Given the description of an element on the screen output the (x, y) to click on. 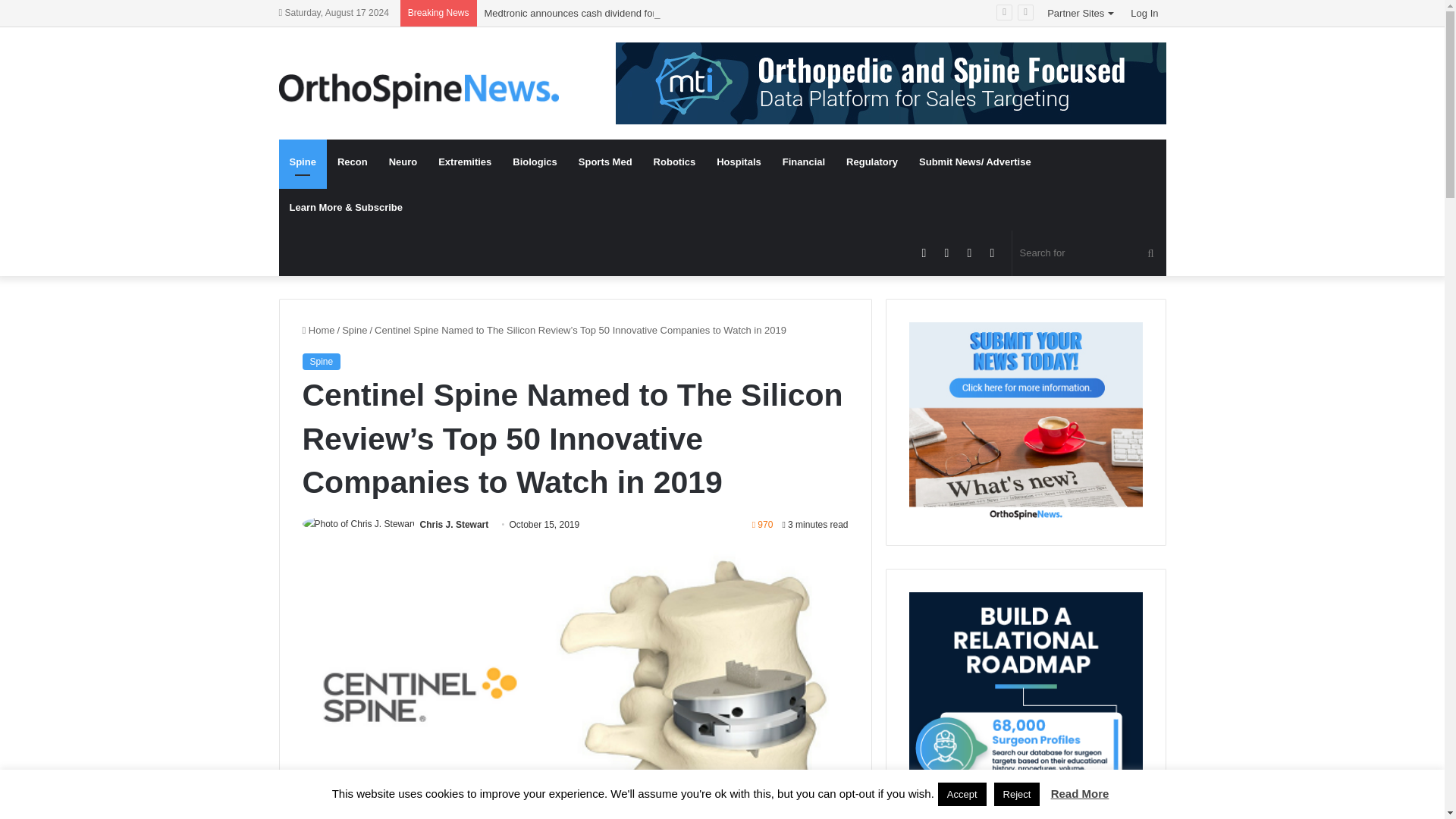
Home (317, 329)
Robotics (674, 162)
Log In (1144, 13)
Spine (302, 162)
Chris J. Stewart (454, 524)
Chris J. Stewart (454, 524)
Recon (352, 162)
Search for (1088, 253)
Partner Sites (1080, 13)
Neuro (403, 162)
